Given the description of an element on the screen output the (x, y) to click on. 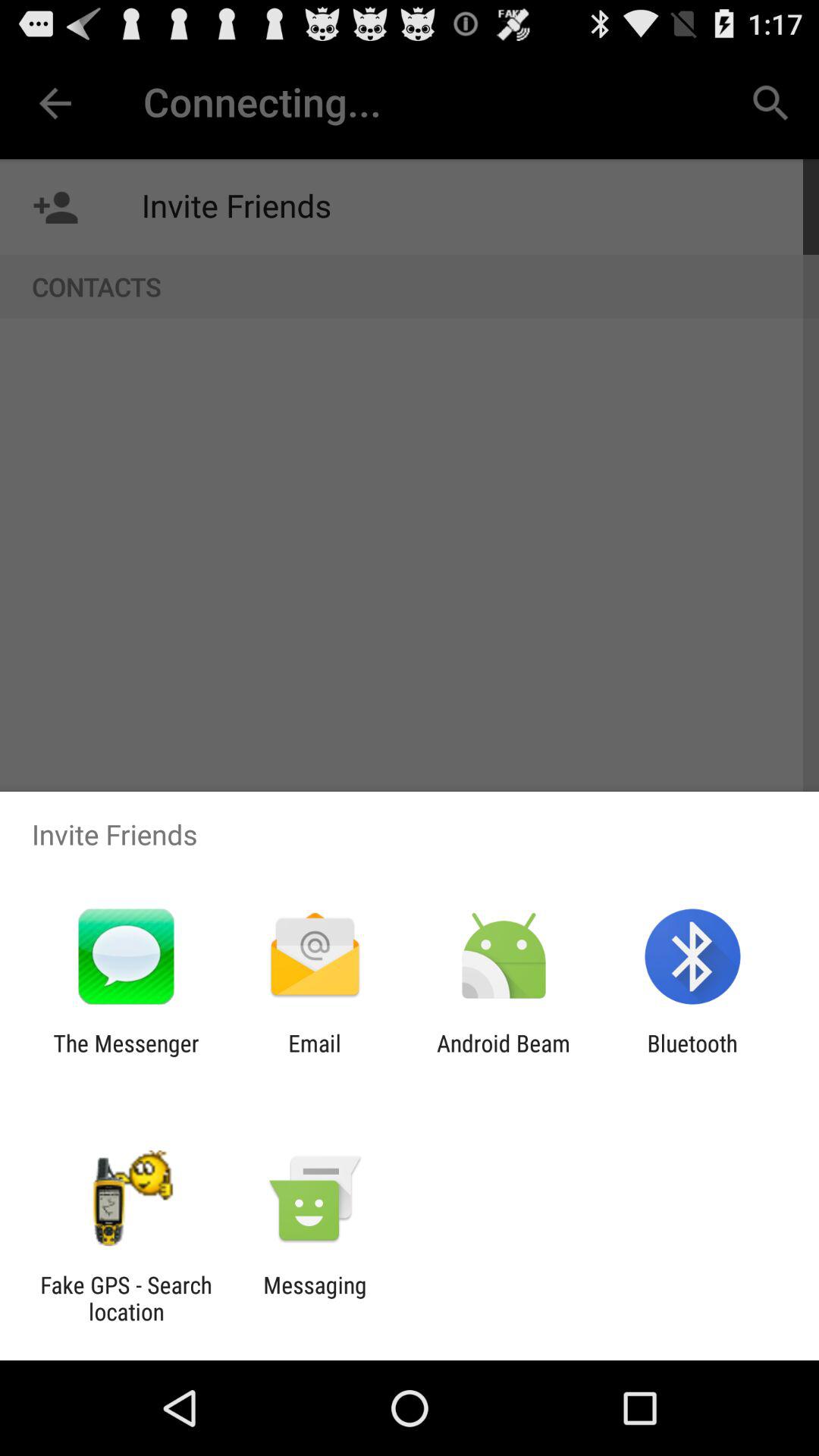
turn off the app next to the the messenger app (314, 1056)
